Given the description of an element on the screen output the (x, y) to click on. 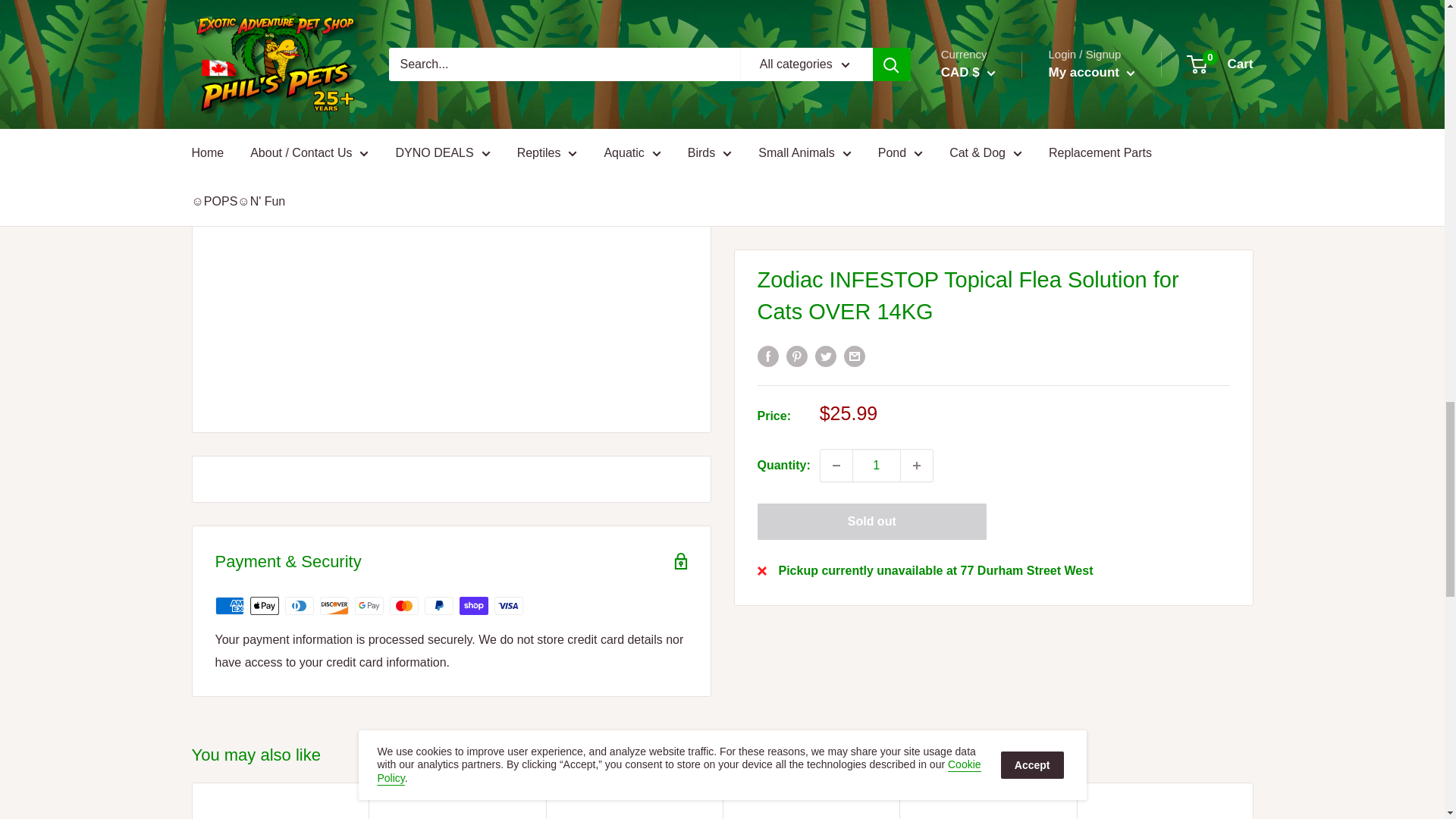
YouTube video player (451, 239)
